Given the description of an element on the screen output the (x, y) to click on. 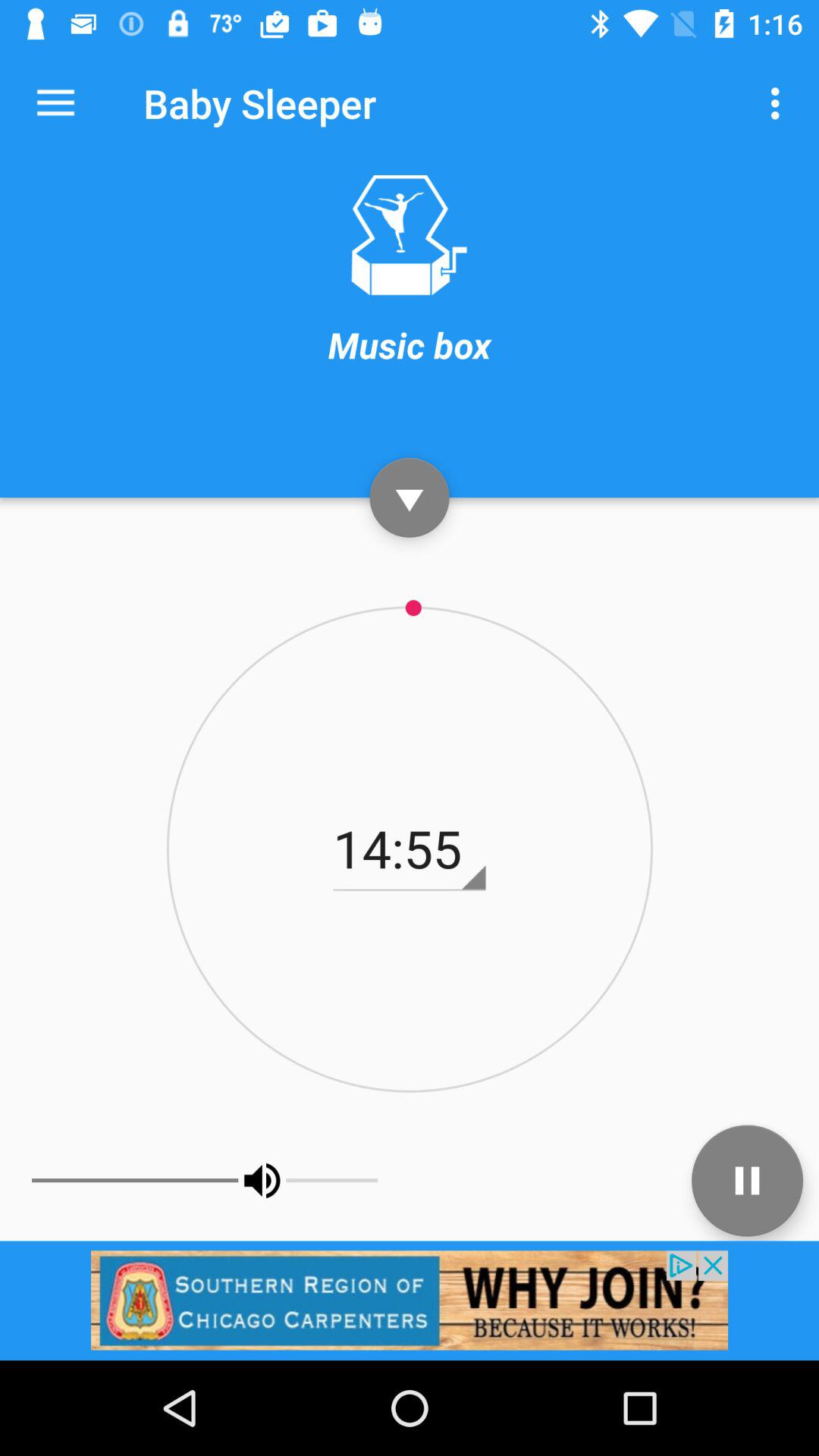
select advertisement (409, 1300)
